Given the description of an element on the screen output the (x, y) to click on. 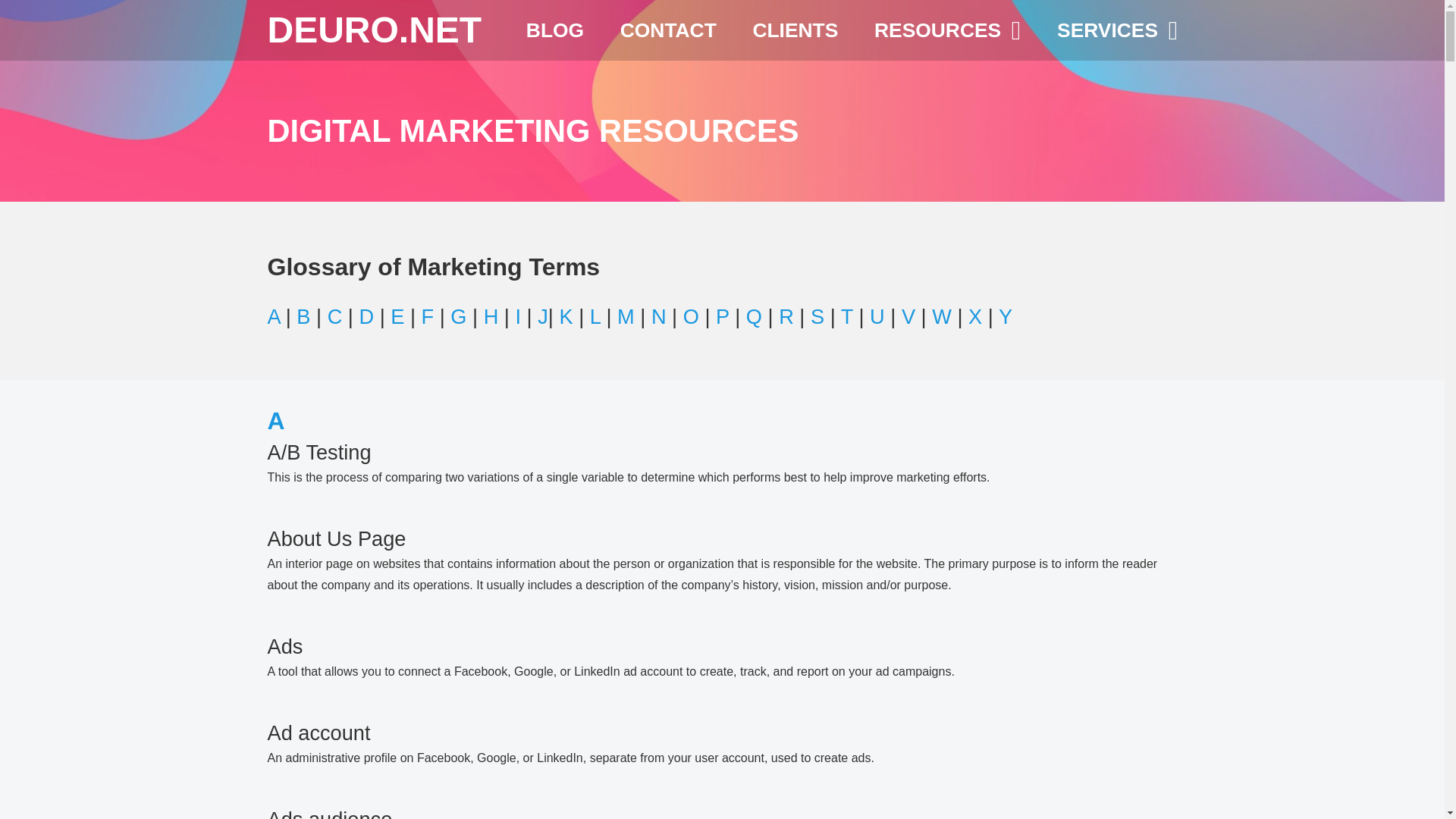
DEURO.NET (373, 29)
CLIENTS (794, 30)
BLOG (555, 30)
CONTACT (667, 30)
SERVICES (1117, 30)
RESOURCES (947, 30)
